Given the description of an element on the screen output the (x, y) to click on. 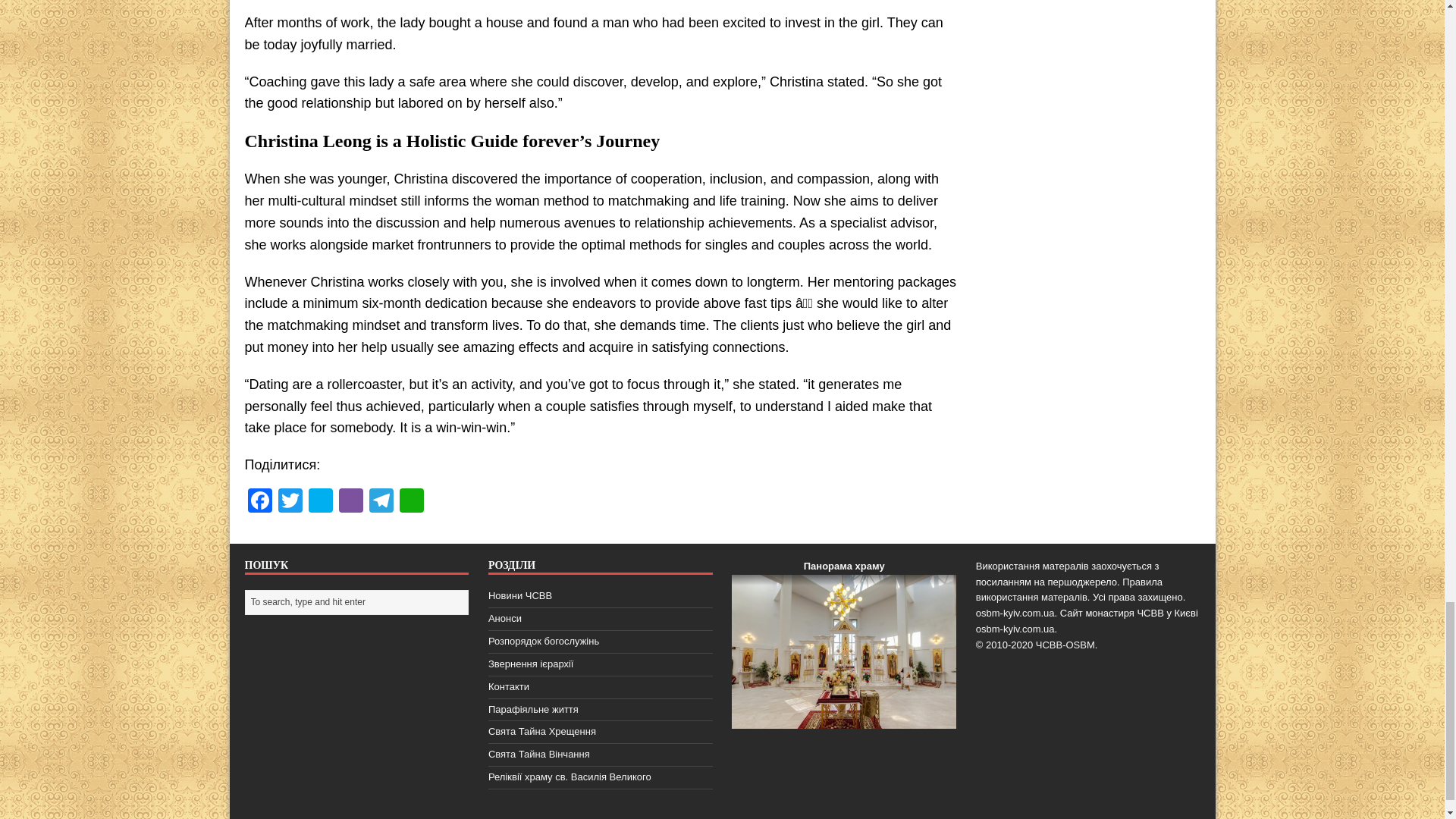
Telegram (380, 502)
Skype (319, 502)
WhatsApp (411, 502)
Twitter (289, 502)
Twitter (289, 502)
Facebook (259, 502)
Facebook (259, 502)
To search, type and hit enter (357, 602)
Viber (349, 502)
